Given the description of an element on the screen output the (x, y) to click on. 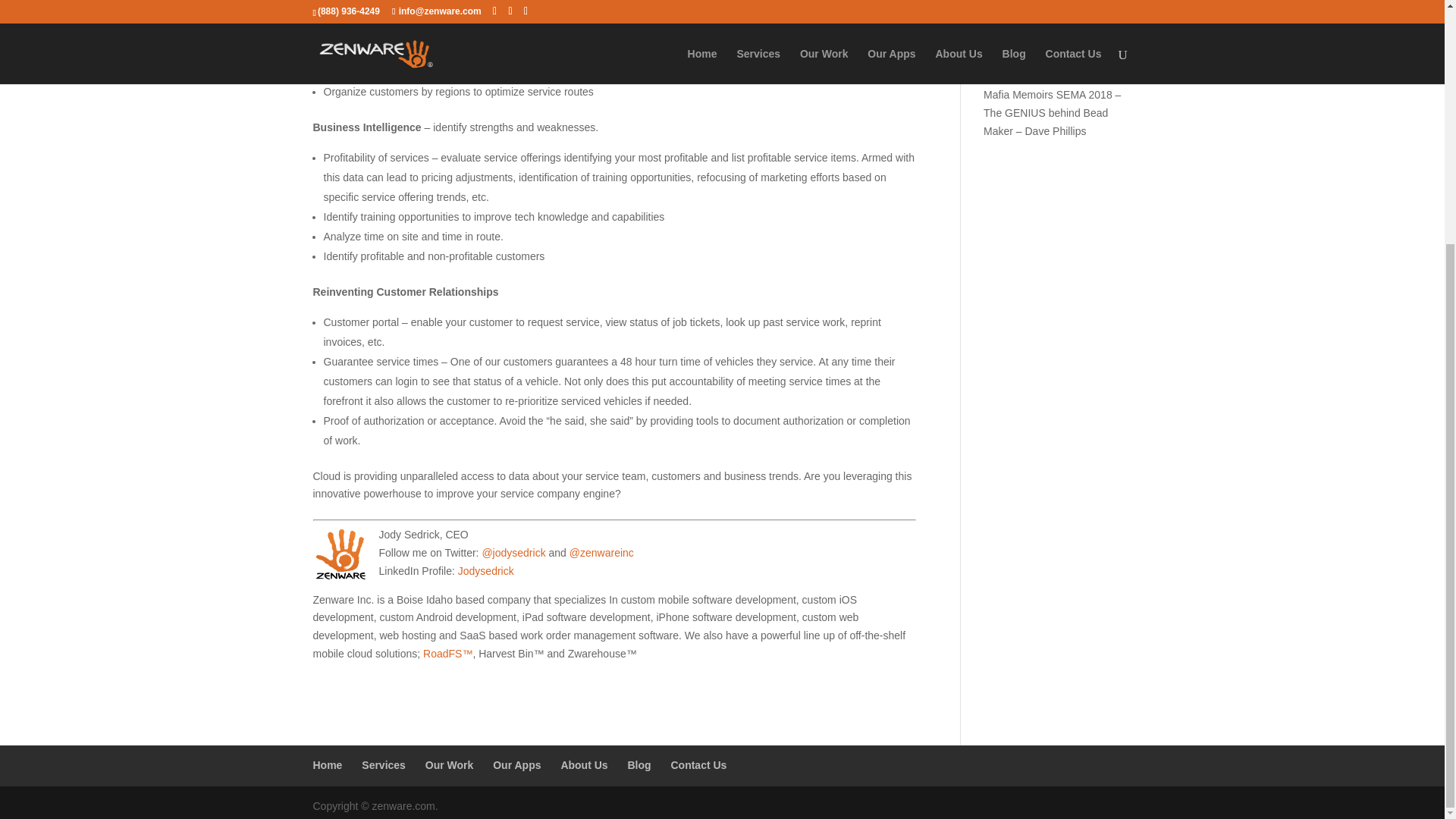
Home (327, 765)
Services (383, 765)
Our Work (449, 765)
Jodysedrick (485, 571)
